Given the description of an element on the screen output the (x, y) to click on. 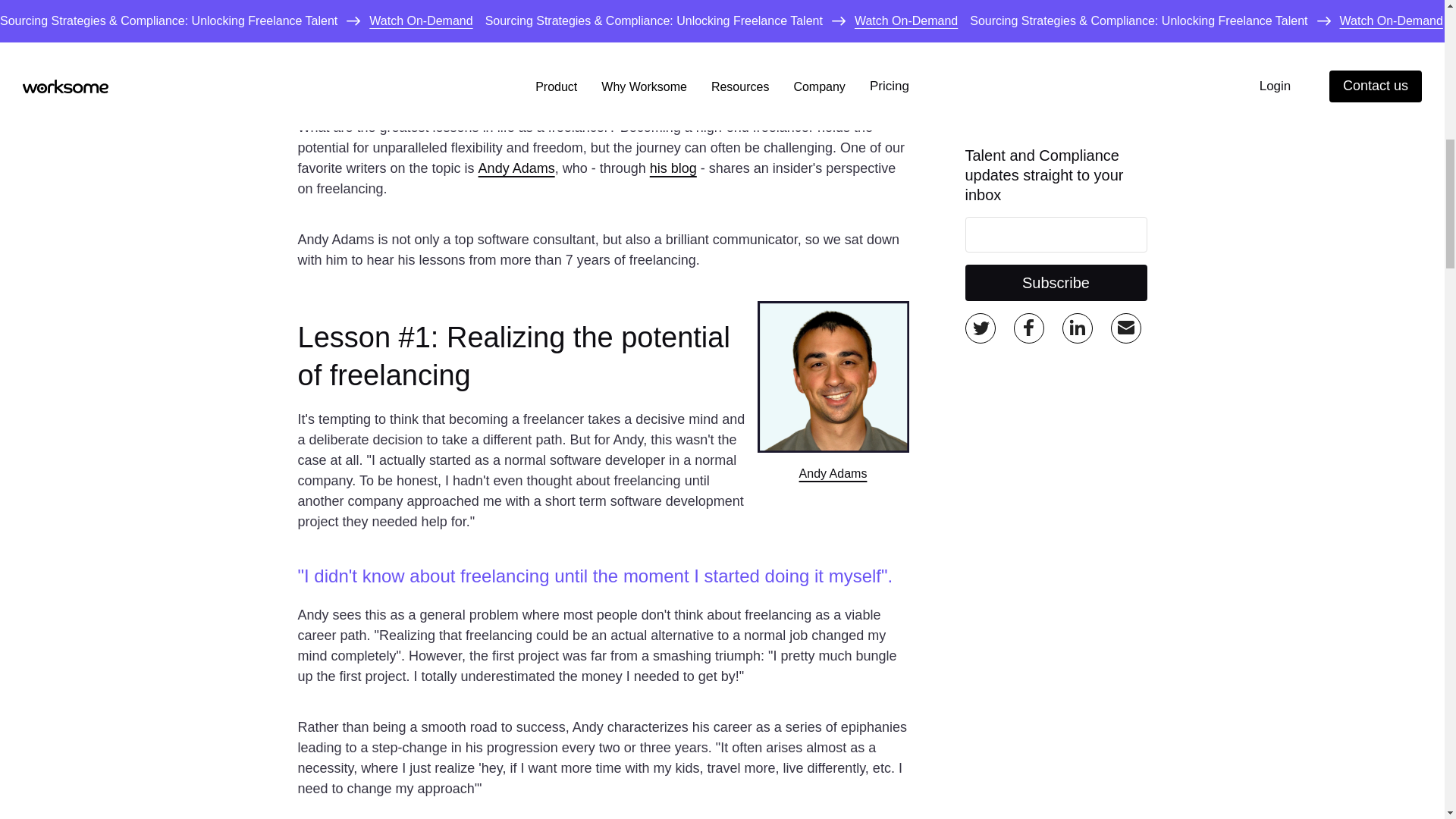
Facebook (1028, 299)
Email (1125, 299)
Subscribe (1055, 254)
LinkedIn (1076, 299)
Twitter (979, 299)
